Given the description of an element on the screen output the (x, y) to click on. 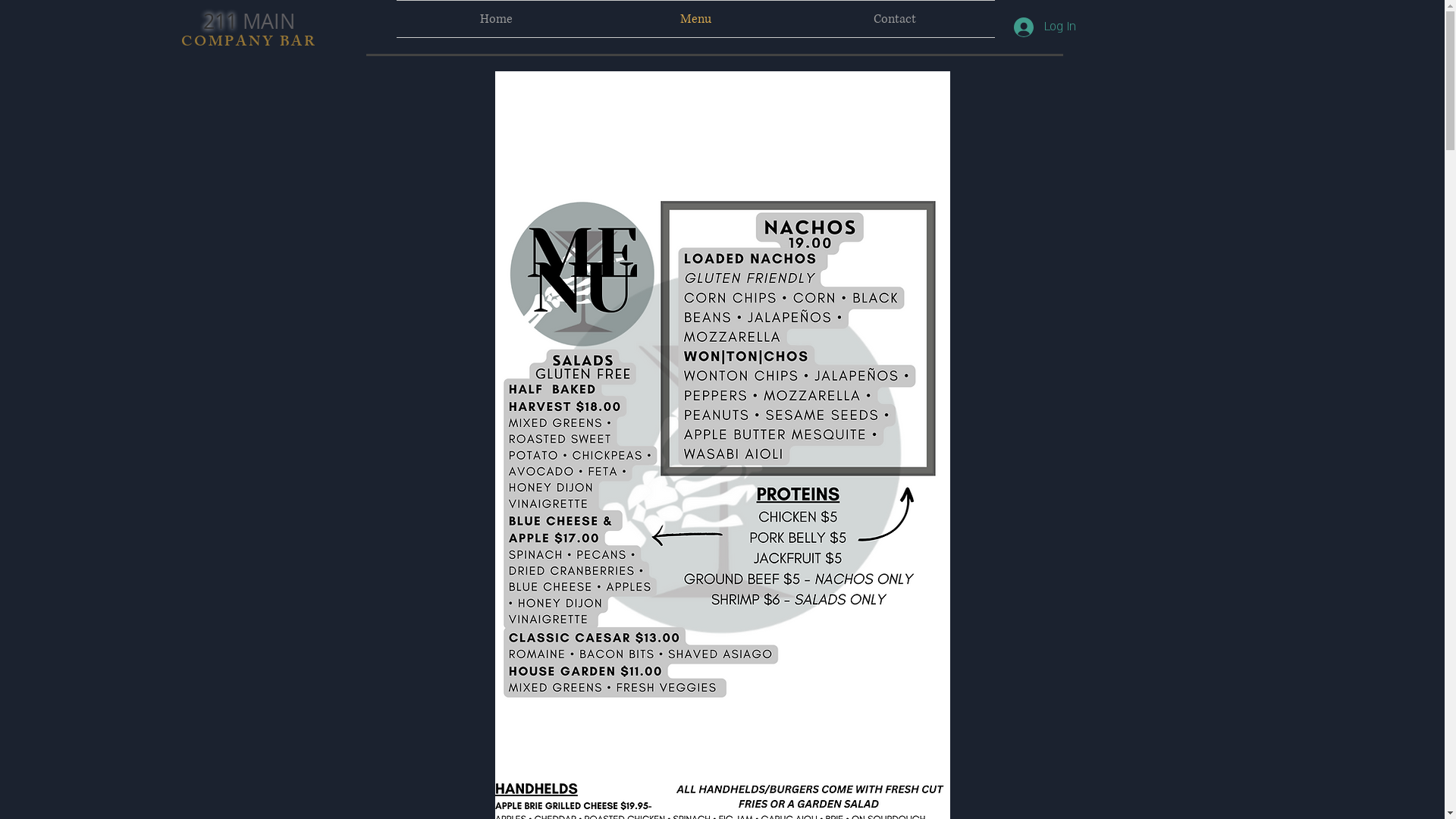
Log In Element type: text (1043, 26)
Contact Element type: text (894, 18)
Menu Element type: text (695, 18)
Home Element type: text (495, 18)
